Given the description of an element on the screen output the (x, y) to click on. 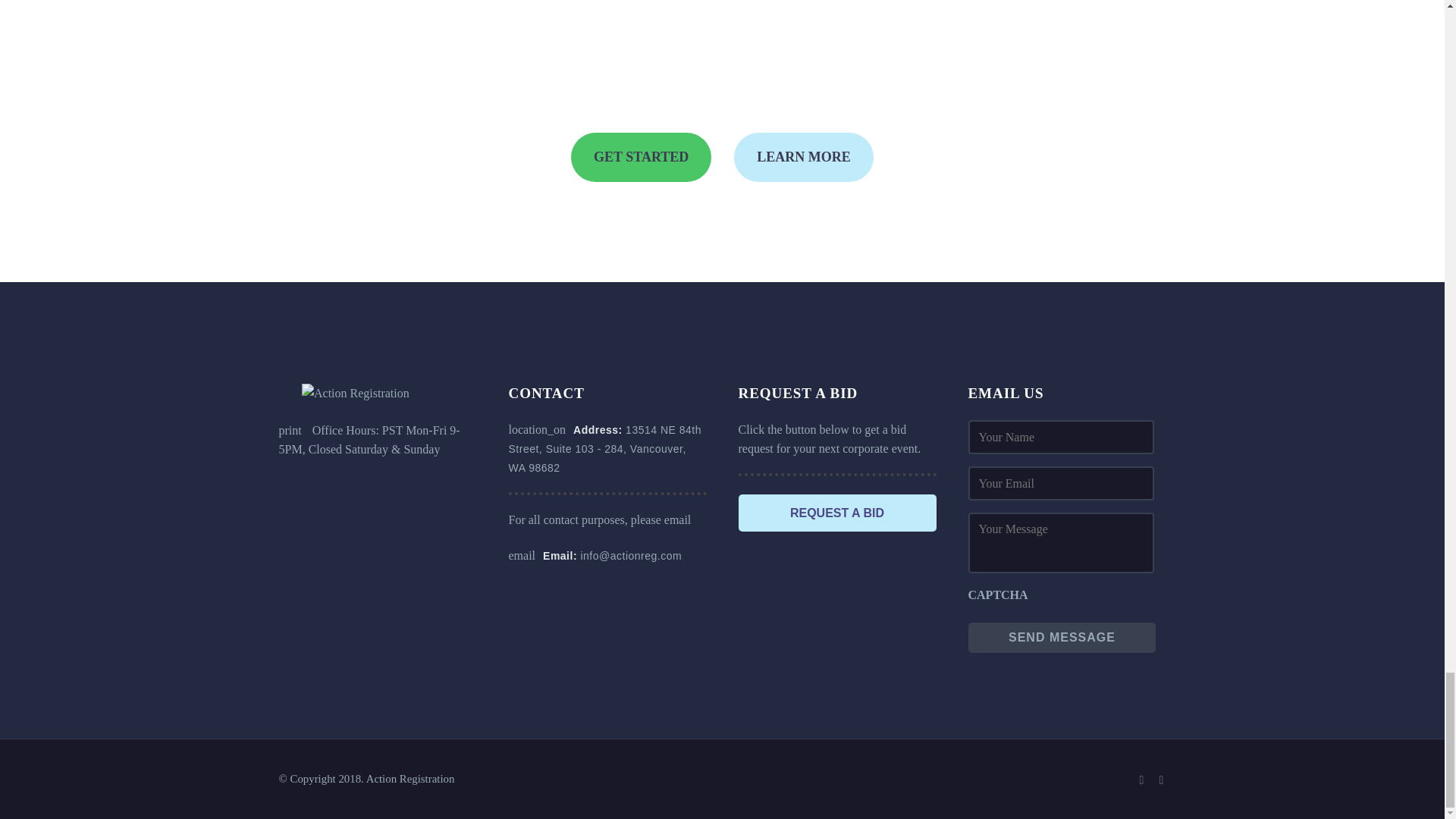
Facebook (1141, 779)
Send Message (1062, 637)
LinkedIn (1161, 779)
